Given the description of an element on the screen output the (x, y) to click on. 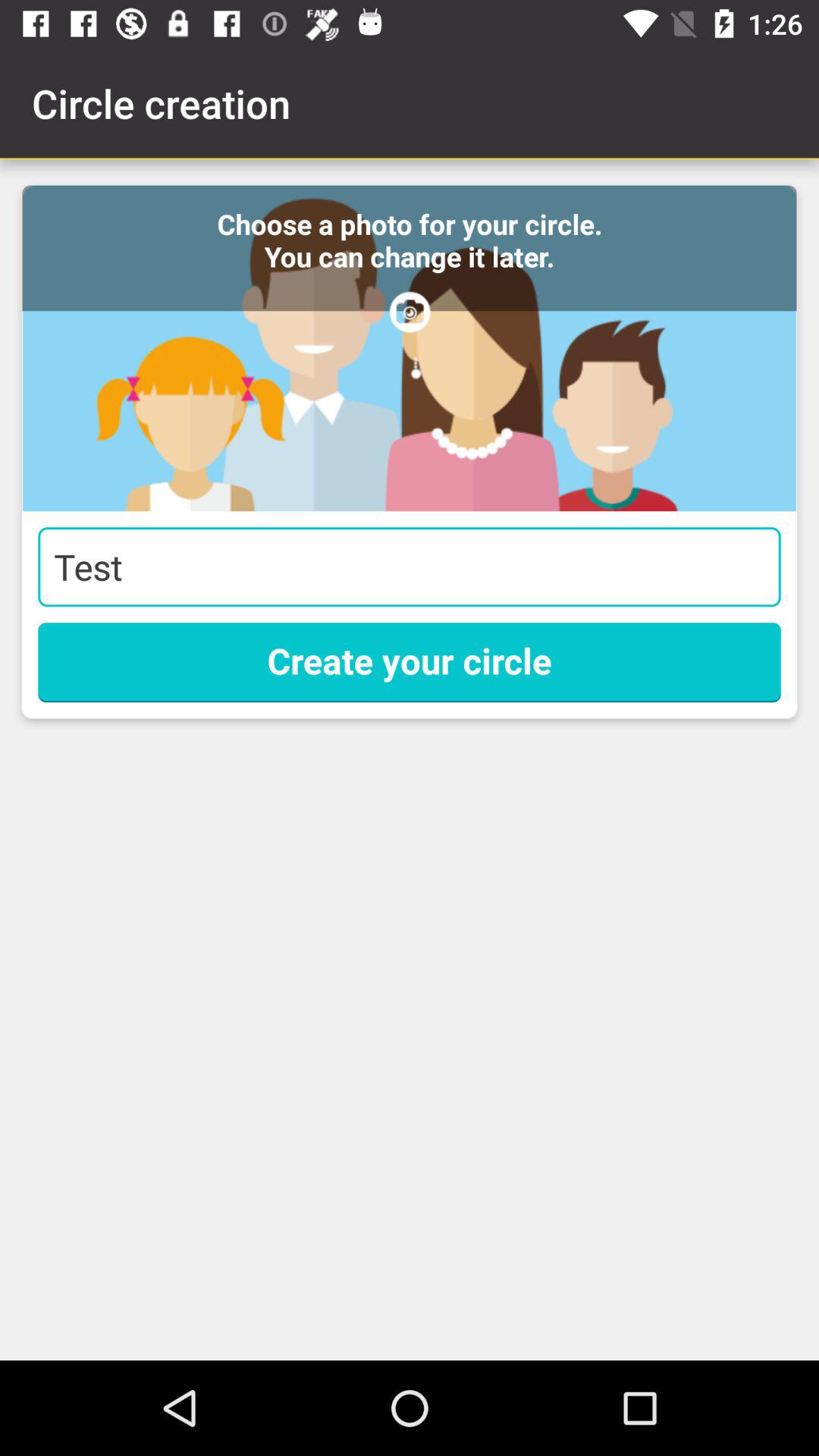
choosing a photo for your circle (409, 348)
